Given the description of an element on the screen output the (x, y) to click on. 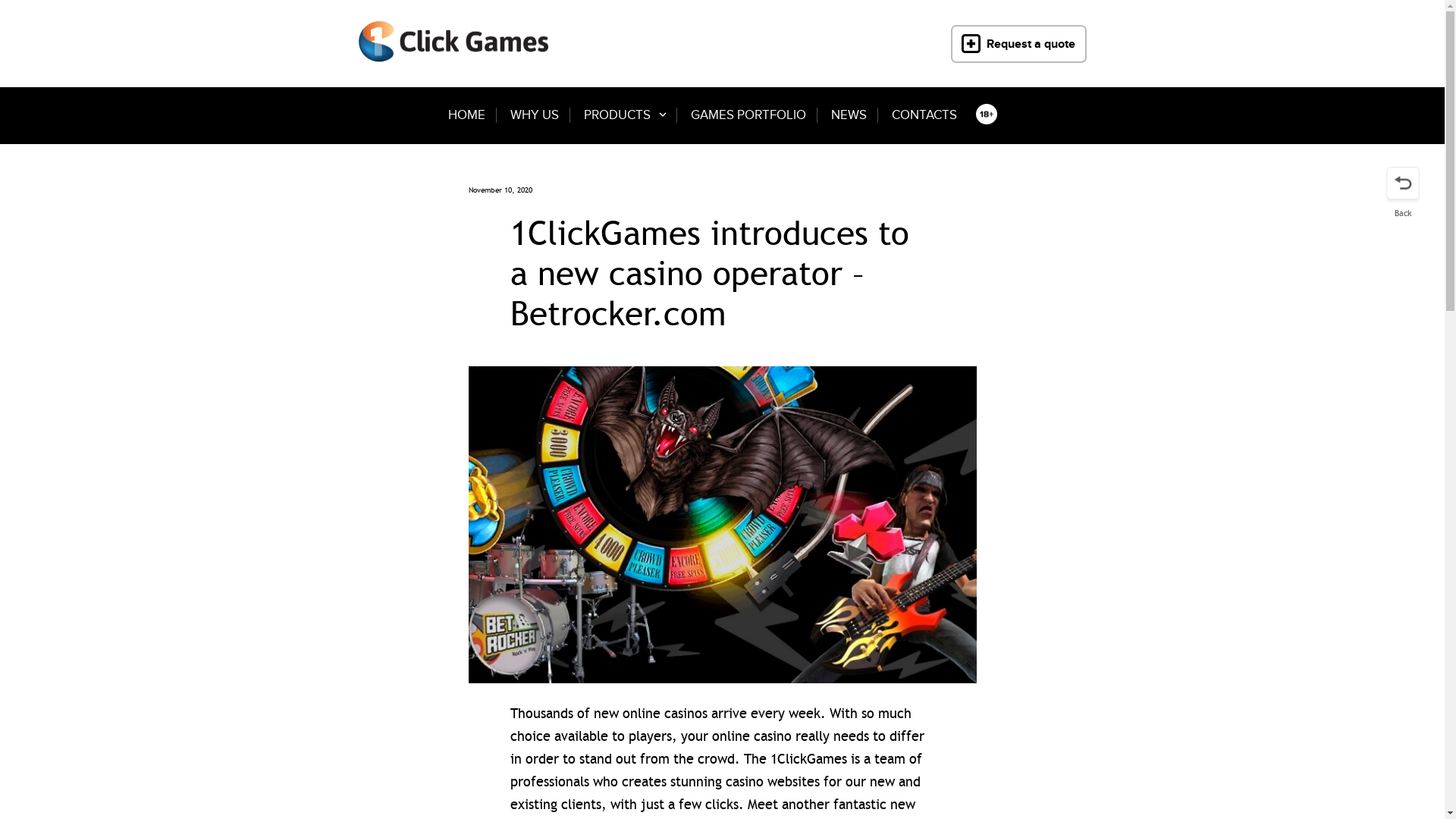
HOME Element type: text (465, 115)
Back Element type: text (1402, 192)
NEWS Element type: text (848, 115)
GAMES PORTFOLIO Element type: text (747, 115)
Request a quote Element type: text (1018, 43)
WHY US Element type: text (533, 115)
CONTACTS Element type: text (924, 115)
